Given the description of an element on the screen output the (x, y) to click on. 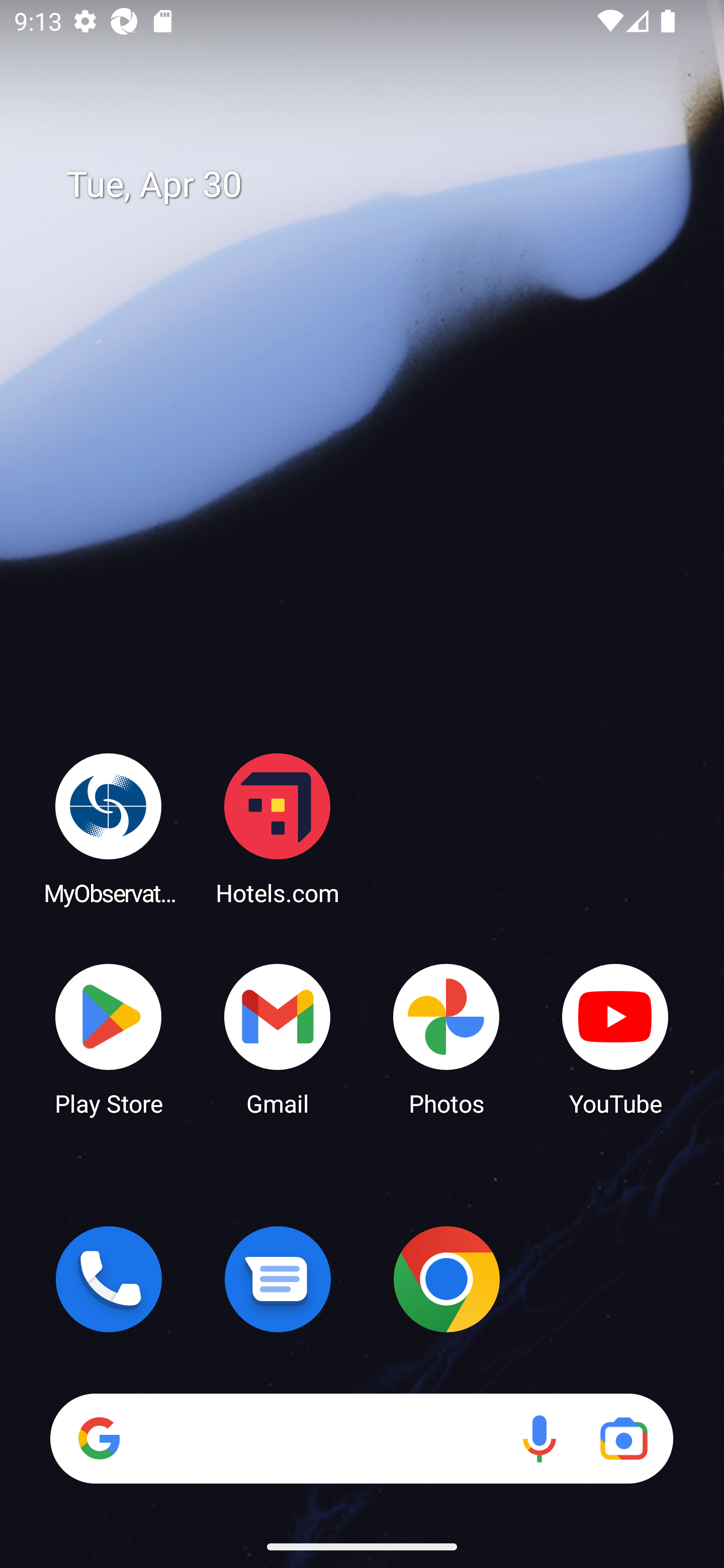
Tue, Apr 30 (375, 184)
MyObservatory (108, 828)
Hotels.com (277, 828)
Play Store (108, 1038)
Gmail (277, 1038)
Photos (445, 1038)
YouTube (615, 1038)
Phone (108, 1279)
Messages (277, 1279)
Chrome (446, 1279)
Voice search (539, 1438)
Google Lens (623, 1438)
